Given the description of an element on the screen output the (x, y) to click on. 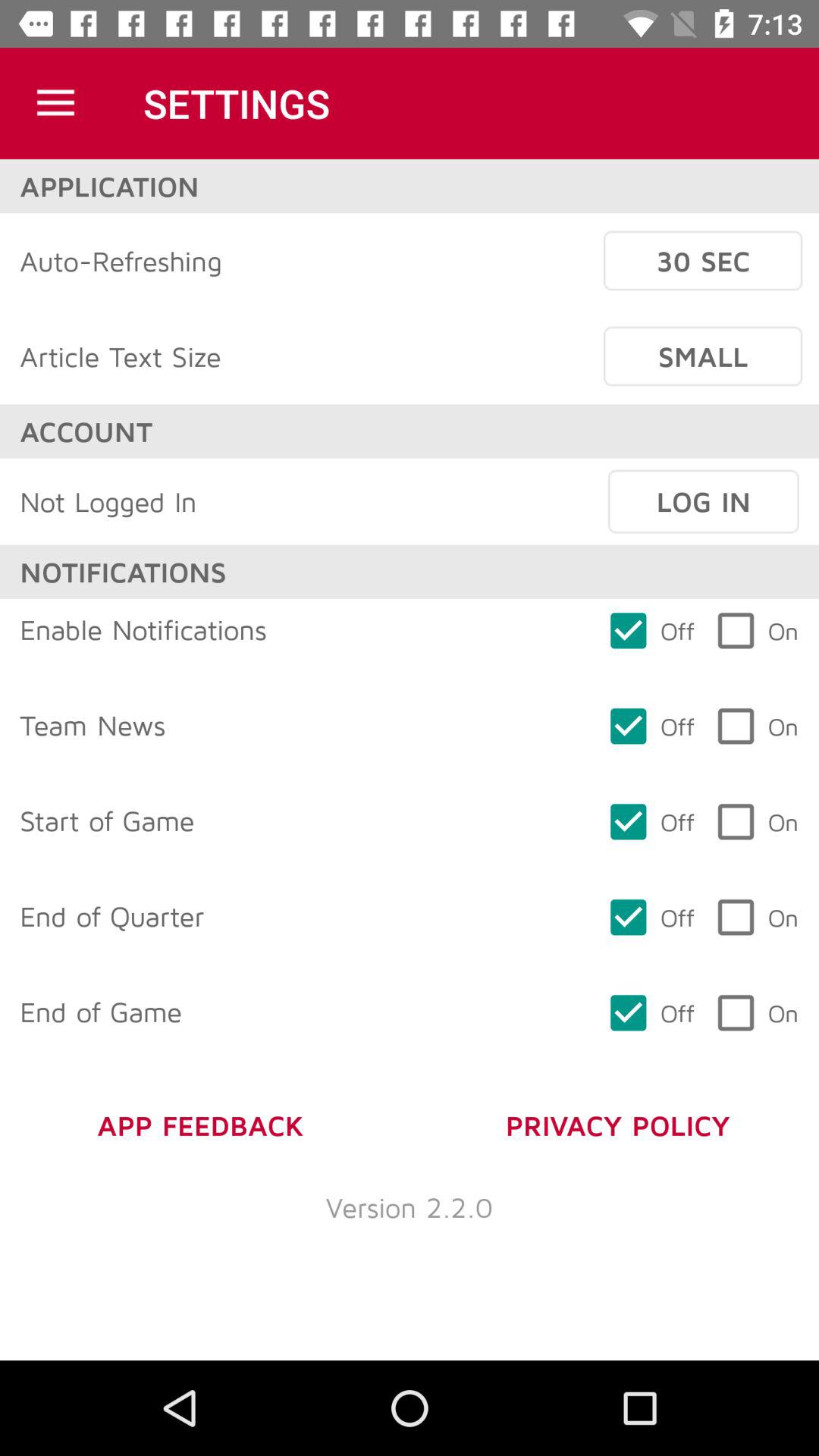
turn on the item next to the not logged in icon (703, 501)
